Given the description of an element on the screen output the (x, y) to click on. 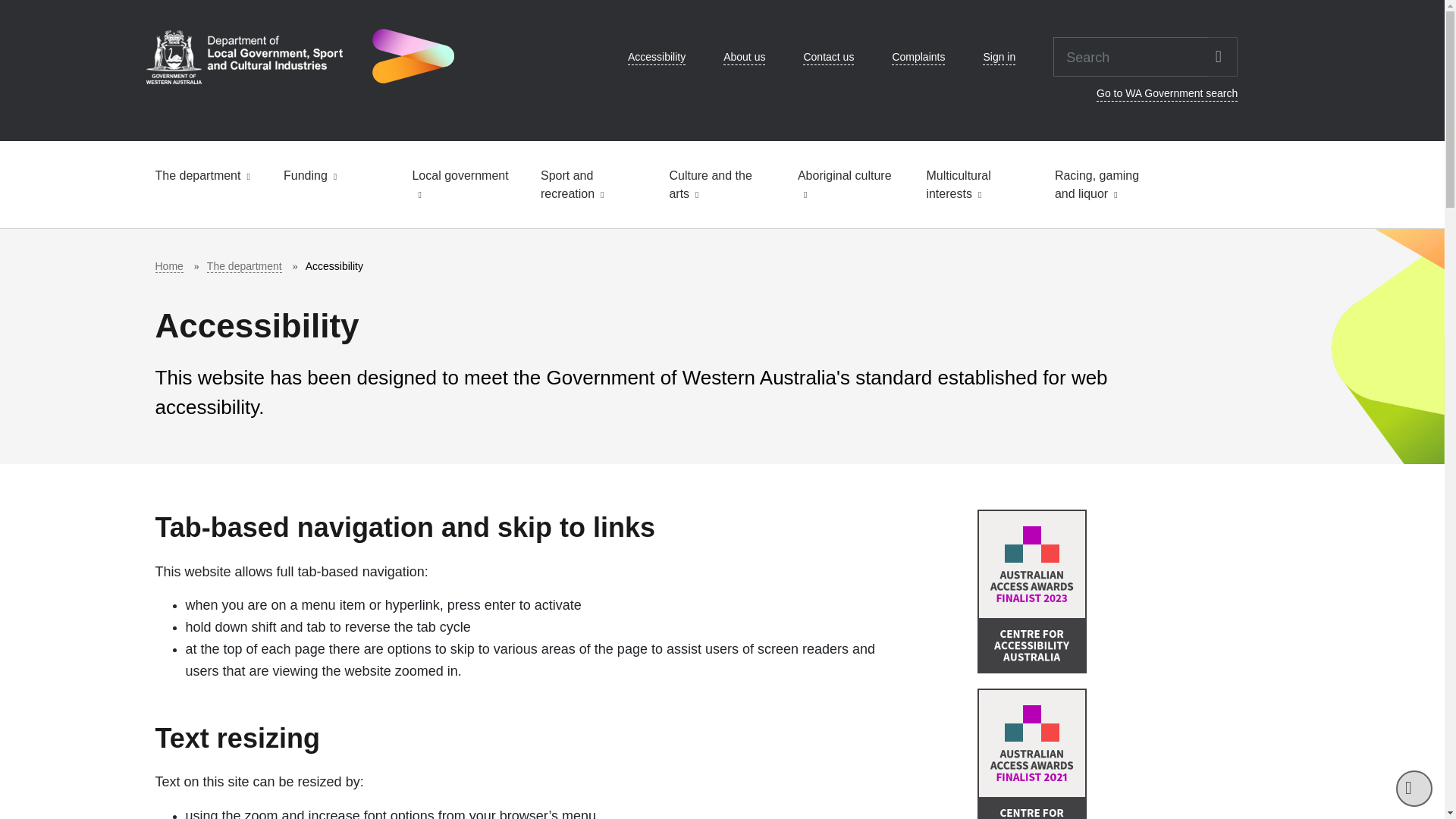
Back to top (1414, 788)
Go to the dlgsc.gov.au homepage (298, 56)
Search input (1129, 56)
